Given the description of an element on the screen output the (x, y) to click on. 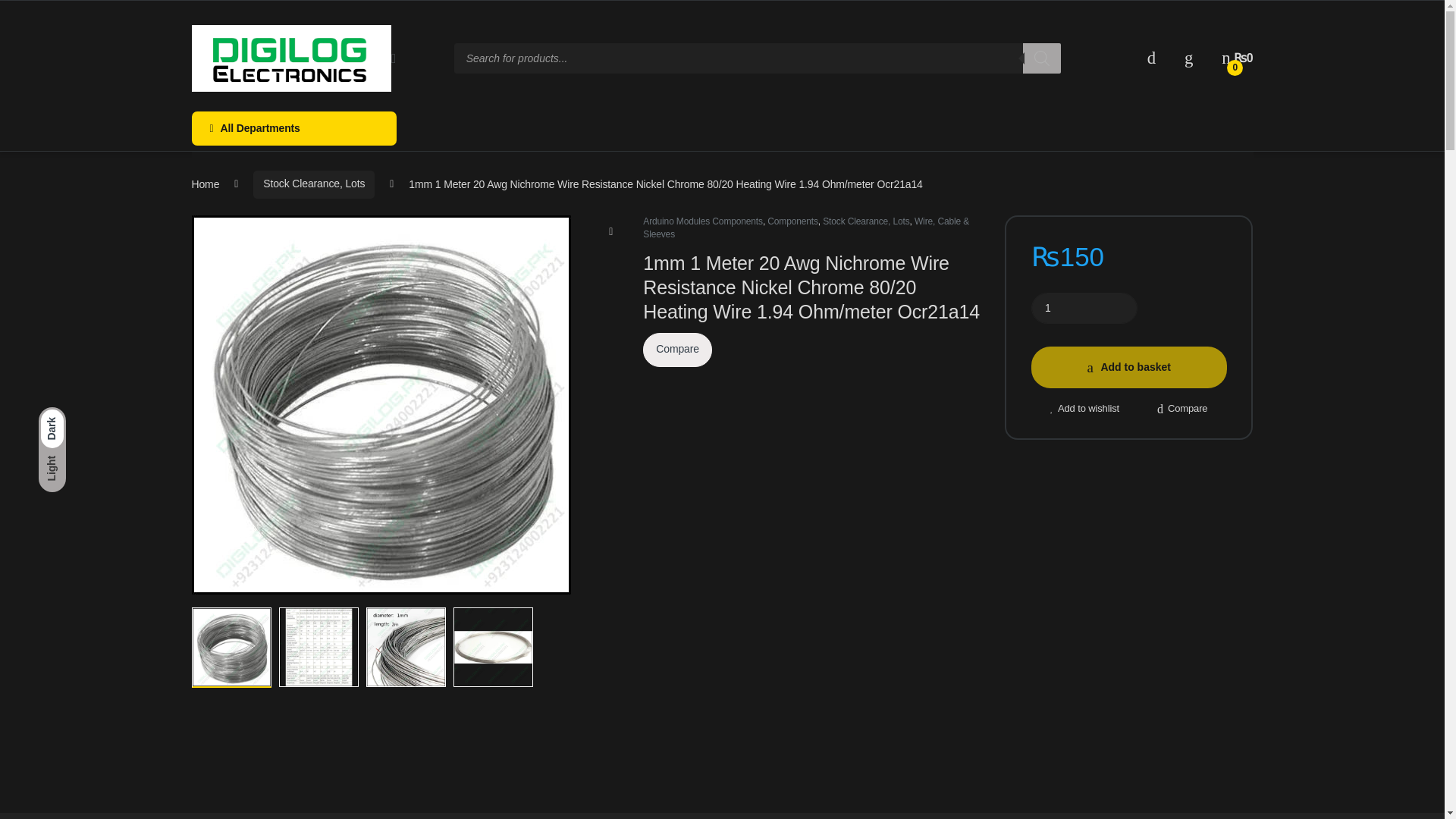
All Departments (293, 128)
Stock Clearance, Lots (865, 221)
Qty (1083, 307)
Arduino Modules Components (702, 221)
Compare (677, 349)
1 (1083, 307)
Components (792, 221)
Add to wishlist (1084, 408)
Add to basket (1128, 367)
